Given the description of an element on the screen output the (x, y) to click on. 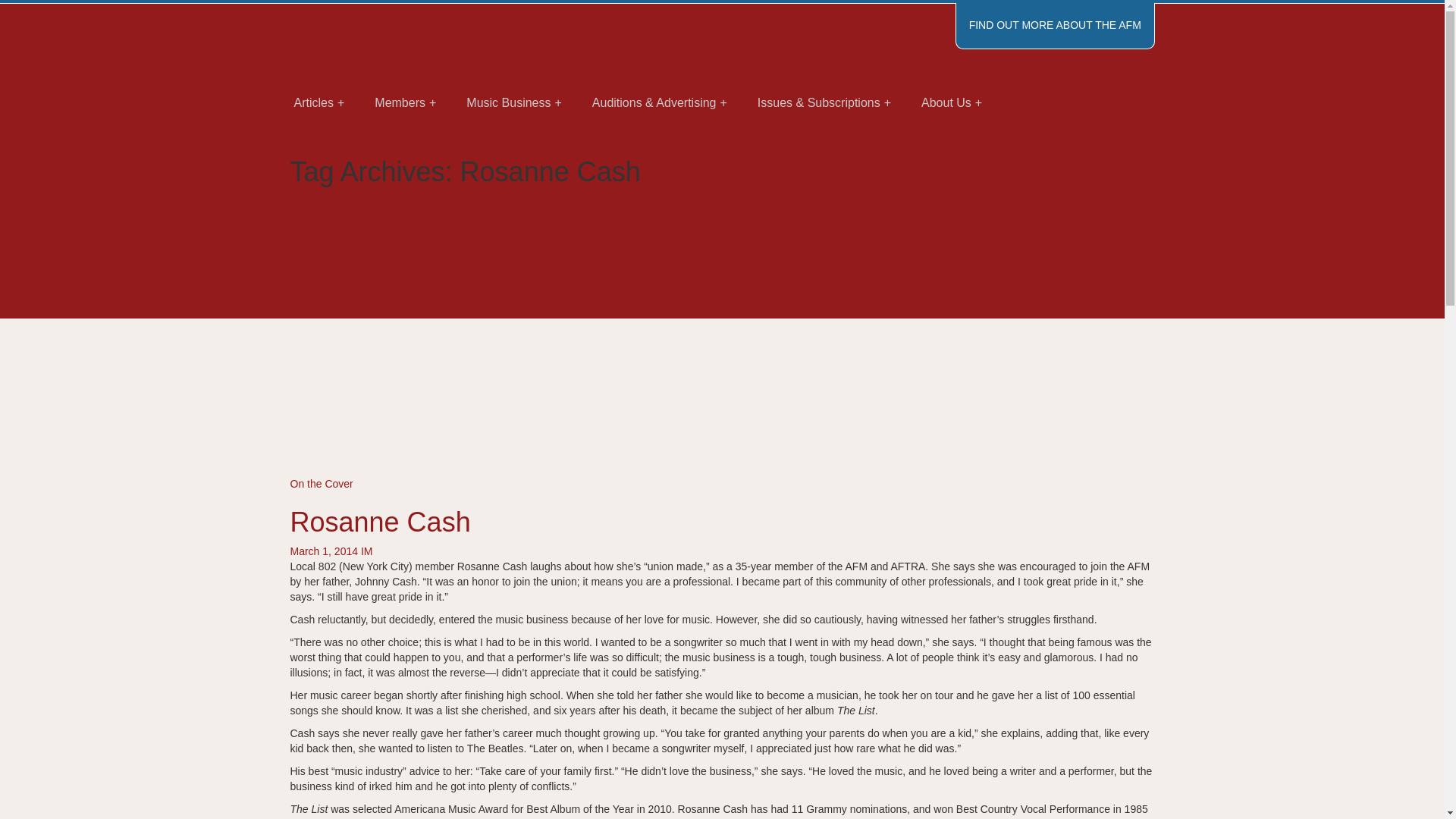
Articles (319, 102)
Members (405, 102)
About Us (951, 102)
Music Business (513, 102)
